Given the description of an element on the screen output the (x, y) to click on. 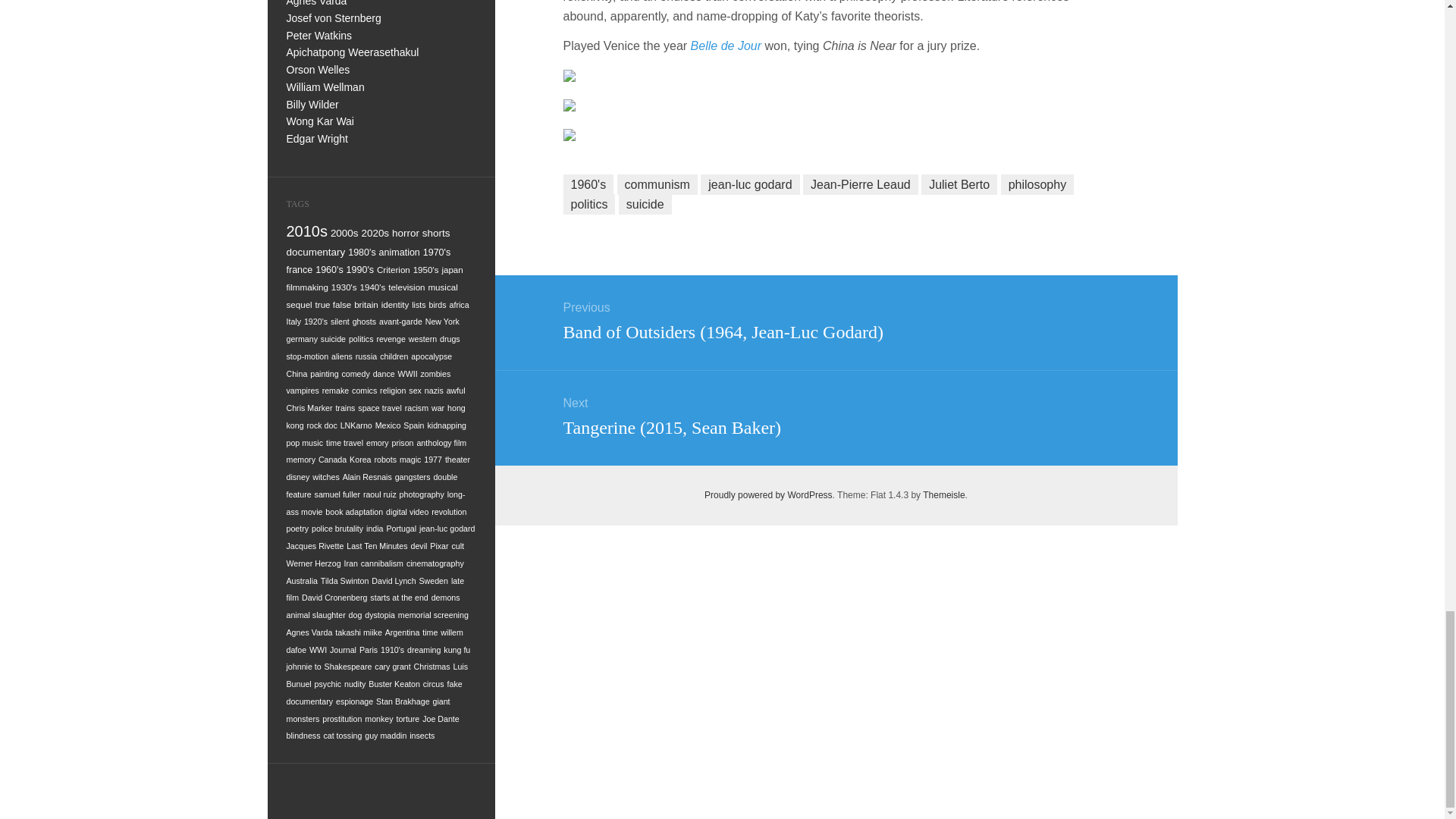
250 topics (329, 269)
243 topics (360, 269)
972 topics (307, 230)
325 topics (435, 233)
277 topics (399, 252)
196 topics (426, 269)
352 topics (344, 233)
347 topics (374, 233)
338 topics (405, 233)
208 topics (393, 269)
254 topics (299, 269)
288 topics (361, 252)
272 topics (437, 252)
319 topics (316, 251)
171 topics (452, 269)
